Given the description of an element on the screen output the (x, y) to click on. 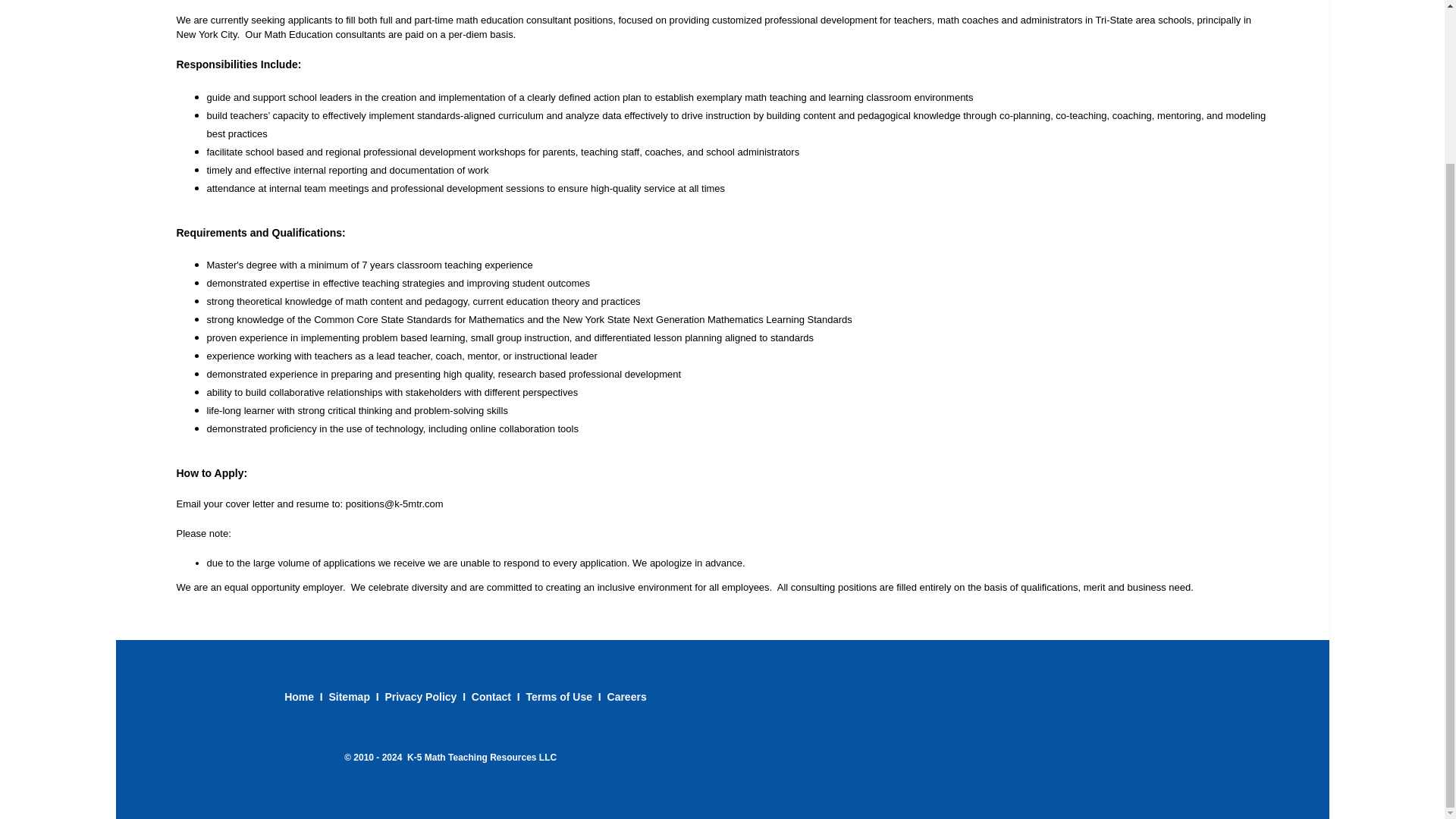
Home (298, 696)
Sitemap (349, 696)
Careers (626, 696)
Privacy Policy (420, 696)
Contact  (492, 696)
Terms of Use (558, 696)
